Given the description of an element on the screen output the (x, y) to click on. 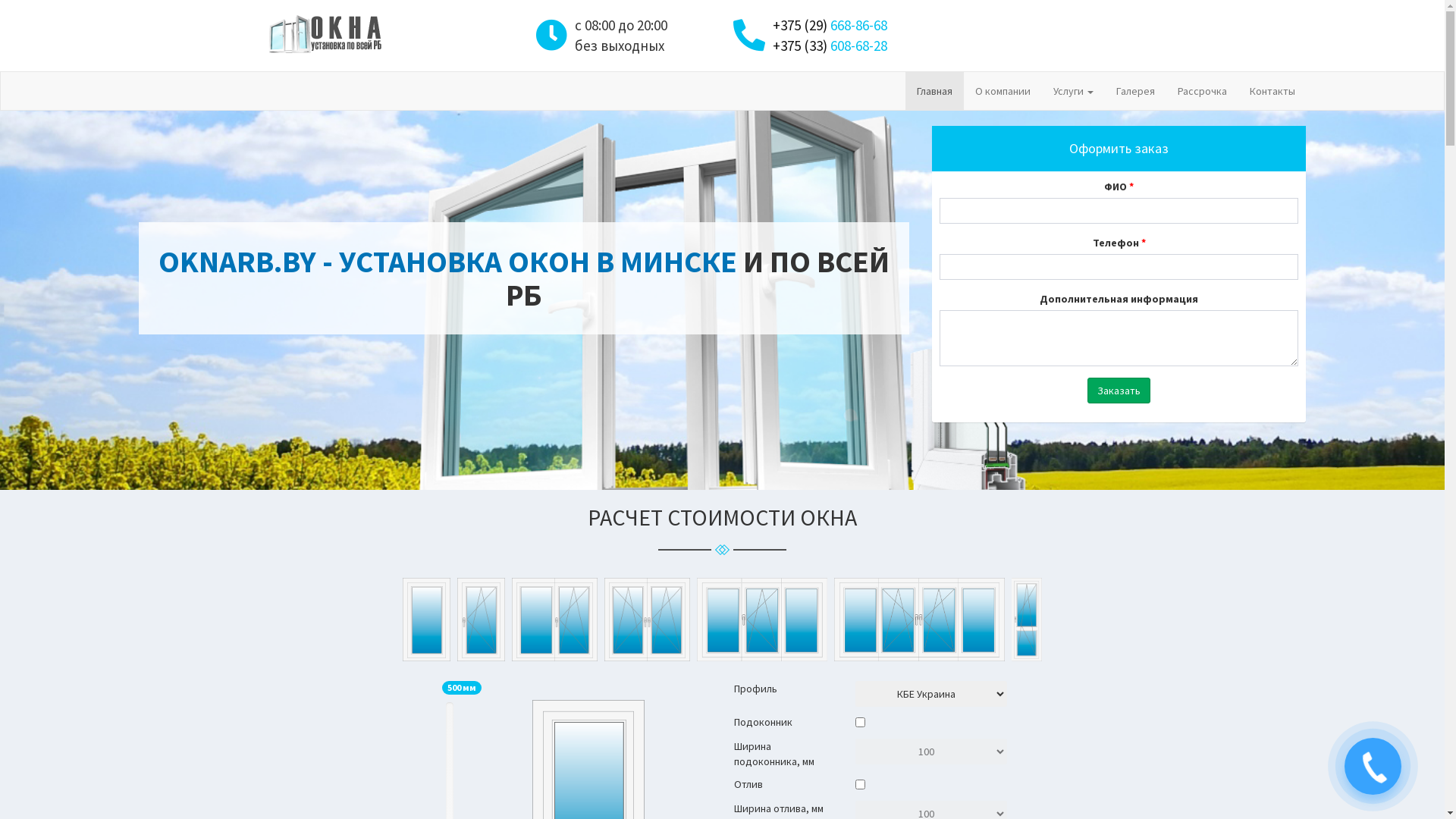
+375 (33) 608-68-28 Element type: text (829, 45)
+375 (29) 668-86-68 Element type: text (829, 25)
